Given the description of an element on the screen output the (x, y) to click on. 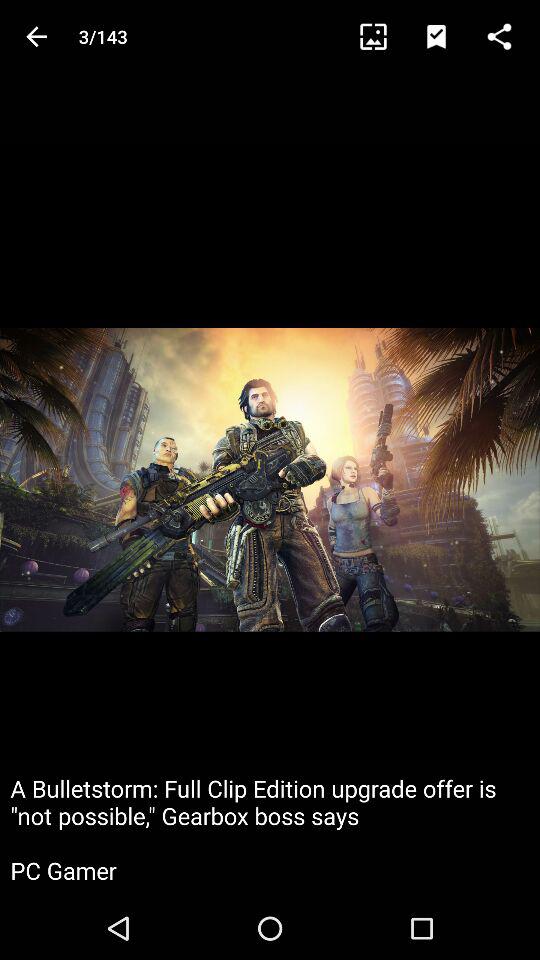
click the item at the top left corner (36, 36)
